Given the description of an element on the screen output the (x, y) to click on. 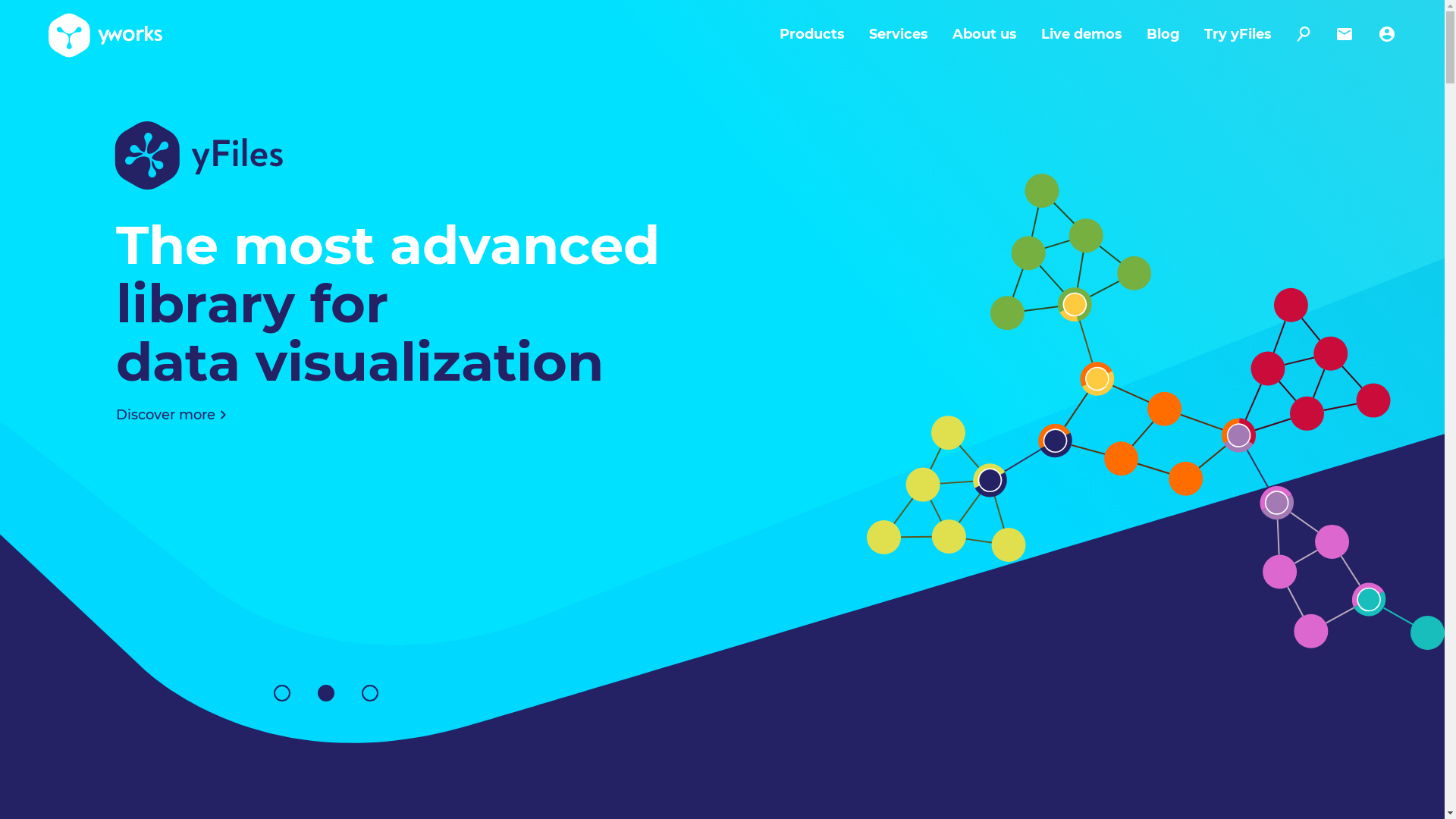
Discover more Element type: text (181, 414)
Blog Element type: text (1150, 34)
yWorks - the diagramming experts Element type: text (105, 34)
Services Element type: text (886, 34)
Contact Element type: hover (1332, 34)
Customer Center Element type: hover (1374, 34)
Try yFiles Element type: text (1225, 34)
Products Element type: text (799, 34)
Live demos Element type: text (1069, 34)
About us Element type: text (972, 34)
